Given the description of an element on the screen output the (x, y) to click on. 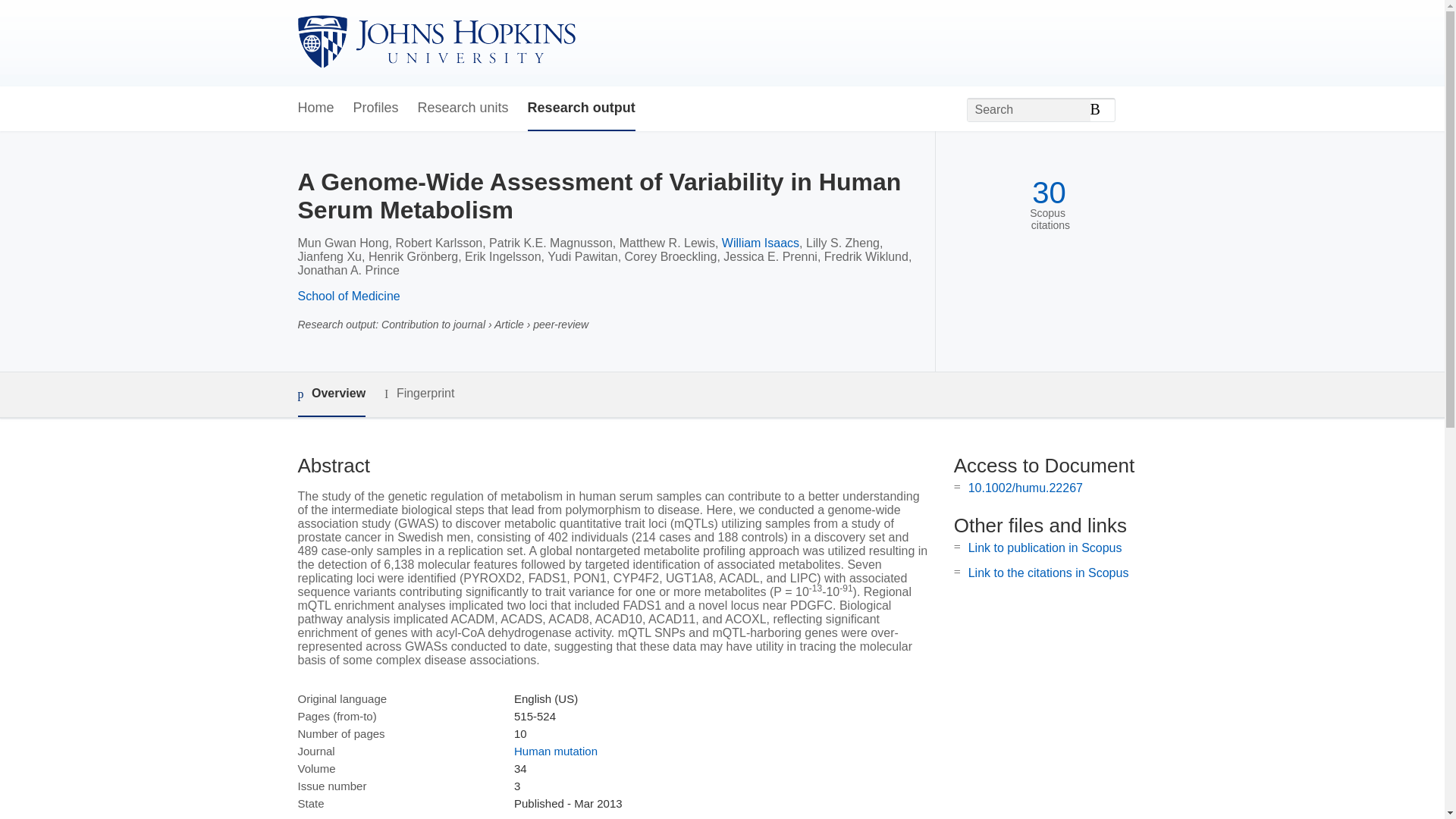
Fingerprint (419, 393)
Research units (462, 108)
Link to the citations in Scopus (1048, 572)
Overview (331, 394)
30 (1048, 192)
Link to publication in Scopus (1045, 547)
Profiles (375, 108)
Johns Hopkins University Home (436, 43)
Human mutation (554, 750)
